Given the description of an element on the screen output the (x, y) to click on. 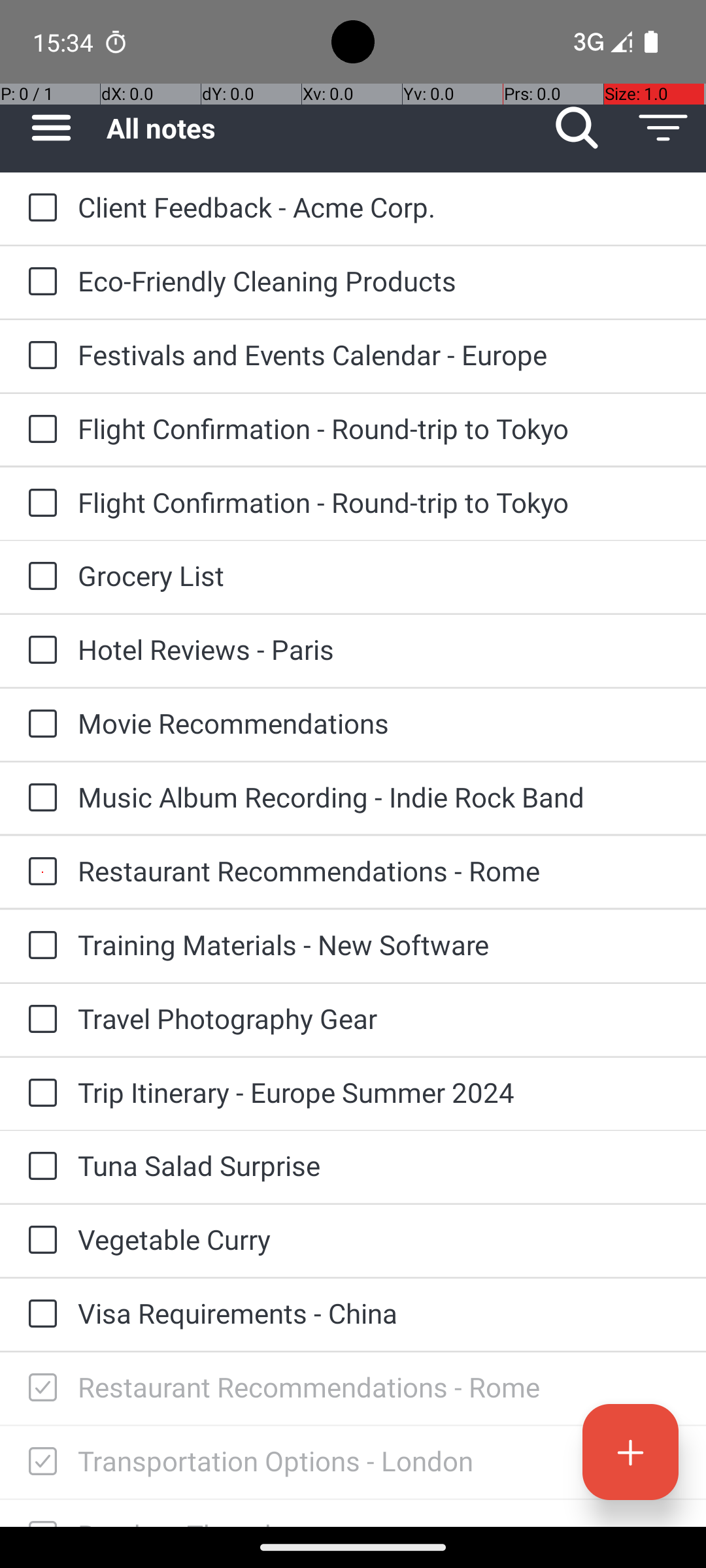
to-do: Client Feedback - Acme Corp. Element type: android.widget.CheckBox (38, 208)
to-do: Eco-Friendly Cleaning Products Element type: android.widget.CheckBox (38, 282)
to-do: Festivals and Events Calendar - Europe Element type: android.widget.CheckBox (38, 356)
Festivals and Events Calendar - Europe Element type: android.widget.TextView (378, 354)
to-do: Flight Confirmation - Round-trip to Tokyo Element type: android.widget.CheckBox (38, 429)
to-do: Hotel Reviews - Paris Element type: android.widget.CheckBox (38, 650)
Hotel Reviews - Paris Element type: android.widget.TextView (378, 648)
to-do: Movie Recommendations Element type: android.widget.CheckBox (38, 724)
Movie Recommendations Element type: android.widget.TextView (378, 722)
to-do: Training Materials - New Software Element type: android.widget.CheckBox (38, 945)
Training Materials - New Software Element type: android.widget.TextView (378, 944)
to-do: Travel Photography Gear Element type: android.widget.CheckBox (38, 1019)
Travel Photography Gear Element type: android.widget.TextView (378, 1017)
to-do: Trip Itinerary - Europe Summer 2024 Element type: android.widget.CheckBox (38, 1093)
Trip Itinerary - Europe Summer 2024 Element type: android.widget.TextView (378, 1091)
to-do: Tuna Salad Surprise Element type: android.widget.CheckBox (38, 1166)
Tuna Salad Surprise Element type: android.widget.TextView (378, 1164)
to-do: Vegetable Curry Element type: android.widget.CheckBox (38, 1240)
Vegetable Curry Element type: android.widget.TextView (378, 1238)
to-do: Visa Requirements - China Element type: android.widget.CheckBox (38, 1314)
Visa Requirements - China Element type: android.widget.TextView (378, 1312)
to-do: Transportation Options - London Element type: android.widget.CheckBox (38, 1462)
Transportation Options - London Element type: android.widget.TextView (378, 1460)
to-do: Random Thoughts Element type: android.widget.CheckBox (38, 1513)
